Given the description of an element on the screen output the (x, y) to click on. 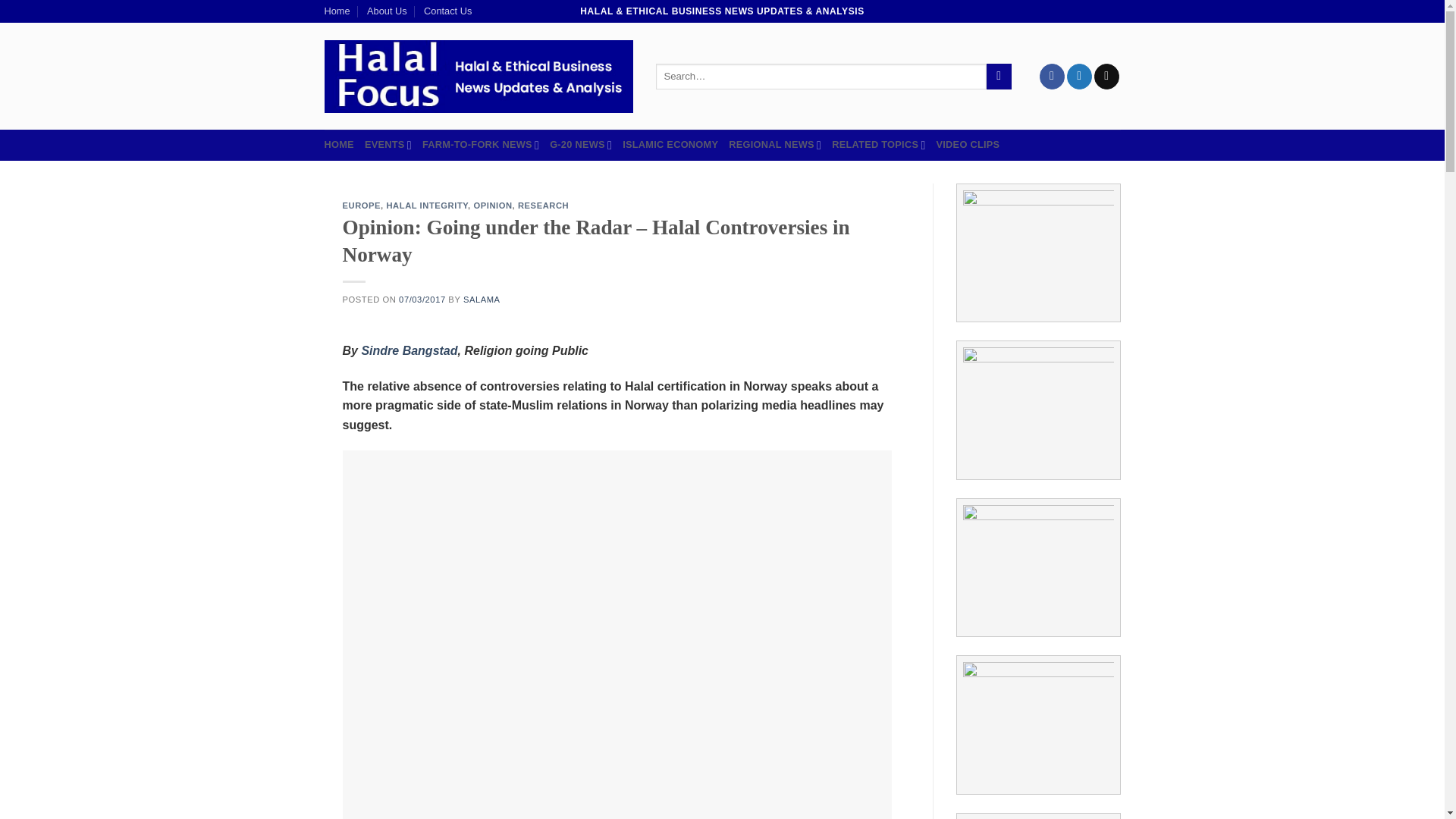
Contact Us (447, 11)
Send us an email (1106, 76)
EVENTS (388, 144)
Follow on Twitter (1079, 76)
About Us (386, 11)
FARM-TO-FORK NEWS (480, 144)
Follow on Facebook (1051, 76)
G-20 NEWS (580, 144)
HOME (338, 144)
Home (337, 11)
